Given the description of an element on the screen output the (x, y) to click on. 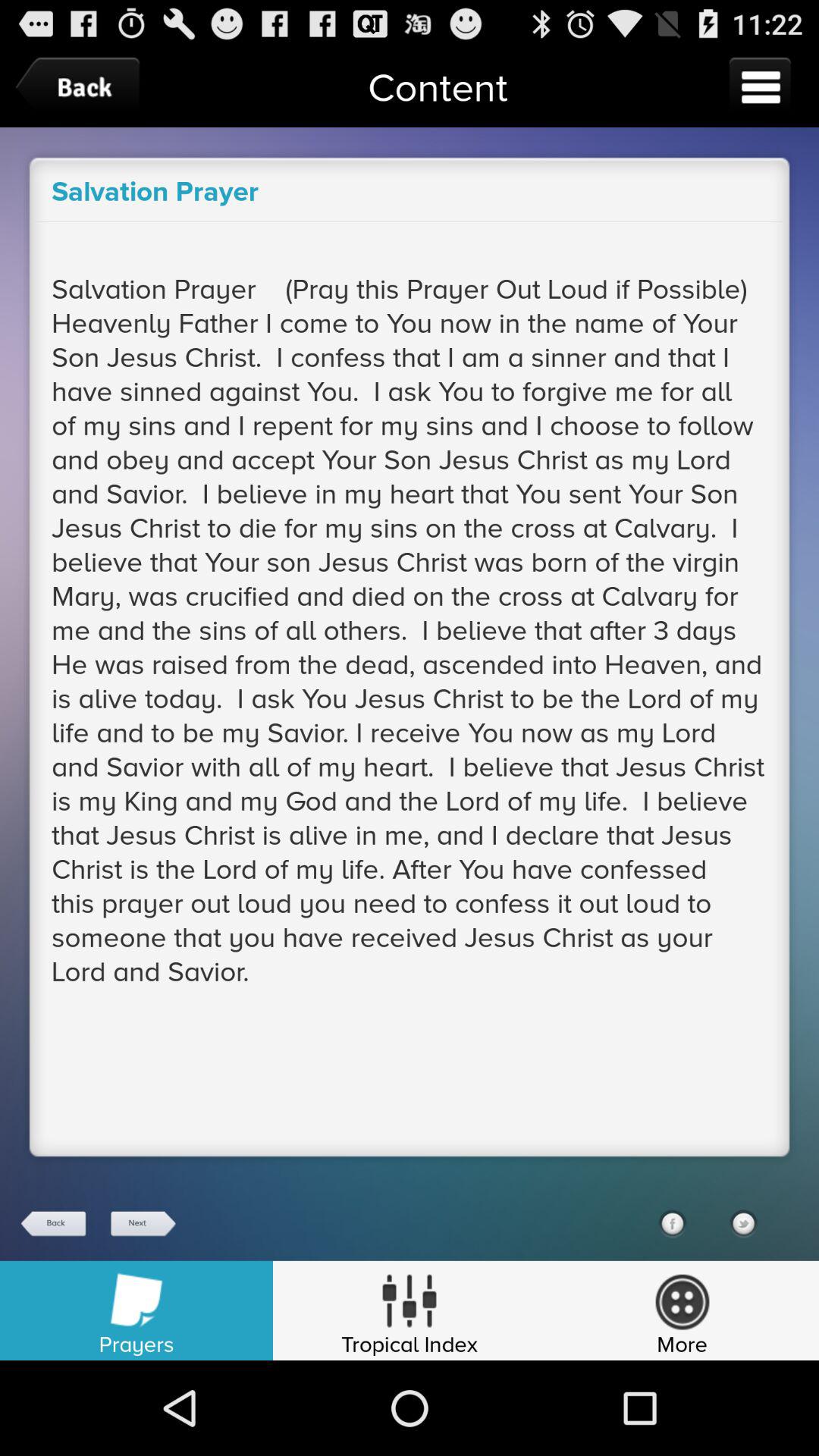
next prayer (142, 1223)
